Given the description of an element on the screen output the (x, y) to click on. 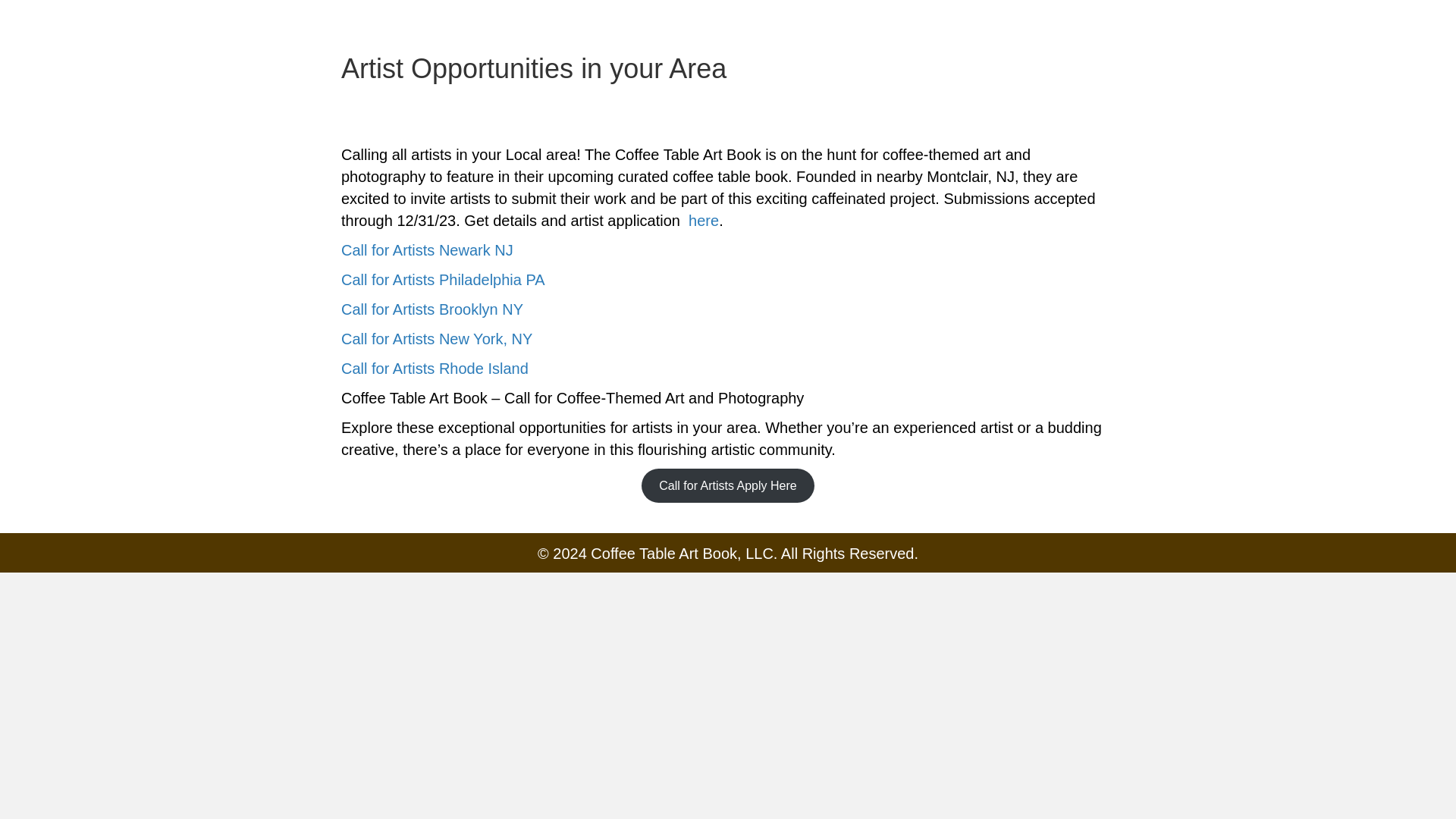
Call for Artists Newark NJ (426, 249)
Call for Artists Philadelphia PA (442, 279)
Call for Artists New York, NY (436, 338)
Call for Artists Apply Here (727, 485)
Call for Artists Brooklyn NY (431, 309)
 here (701, 220)
Call for Artists Rhode Island (434, 368)
